Given the description of an element on the screen output the (x, y) to click on. 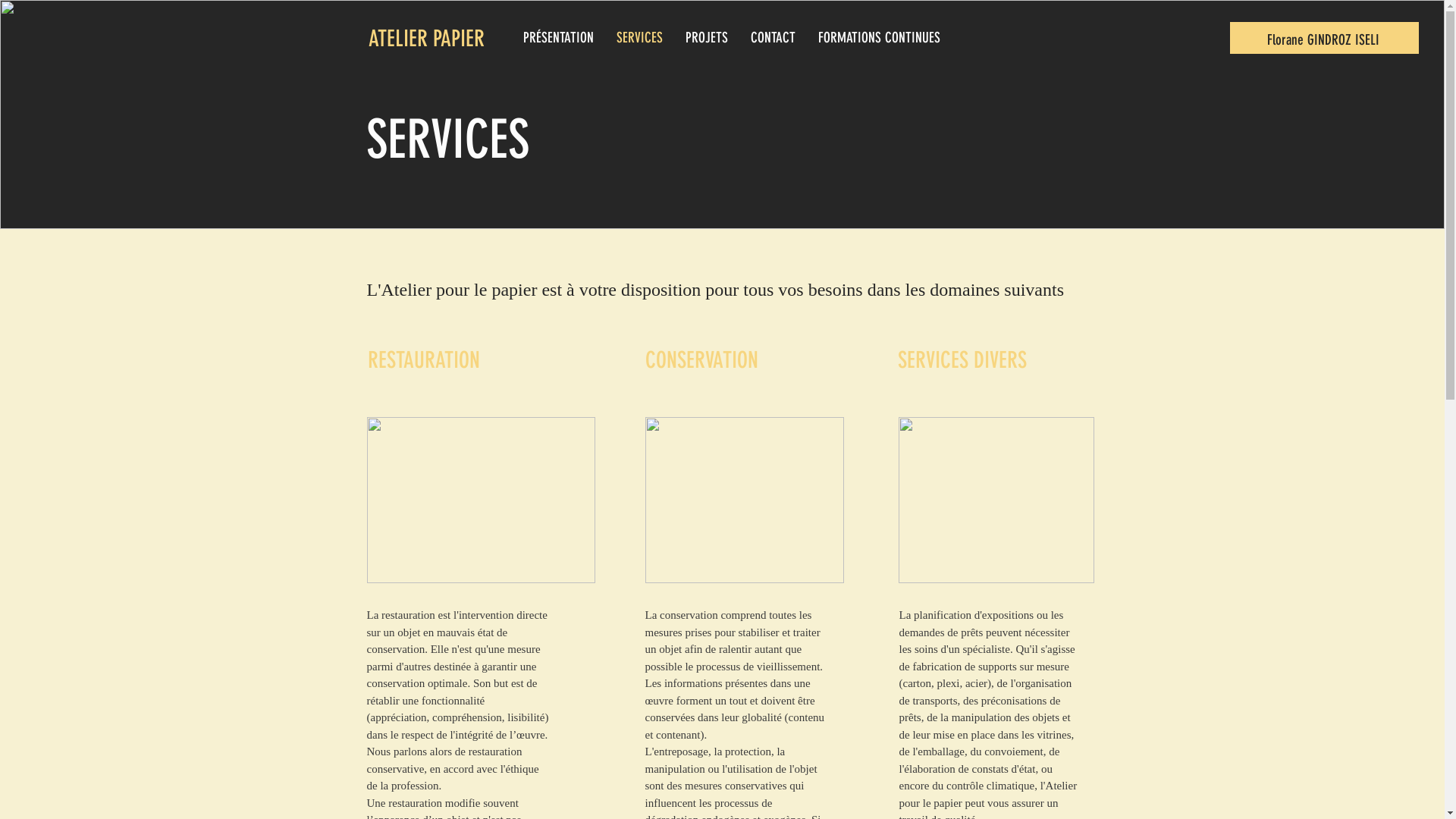
SERVICES Element type: text (639, 39)
CONTACT Element type: text (772, 39)
ATELIER PAPIER Element type: text (426, 38)
PROJETS Element type: text (705, 39)
FORMATIONS CONTINUES Element type: text (878, 39)
Florane GINDROZ ISELI Element type: text (1323, 39)
